Given the description of an element on the screen output the (x, y) to click on. 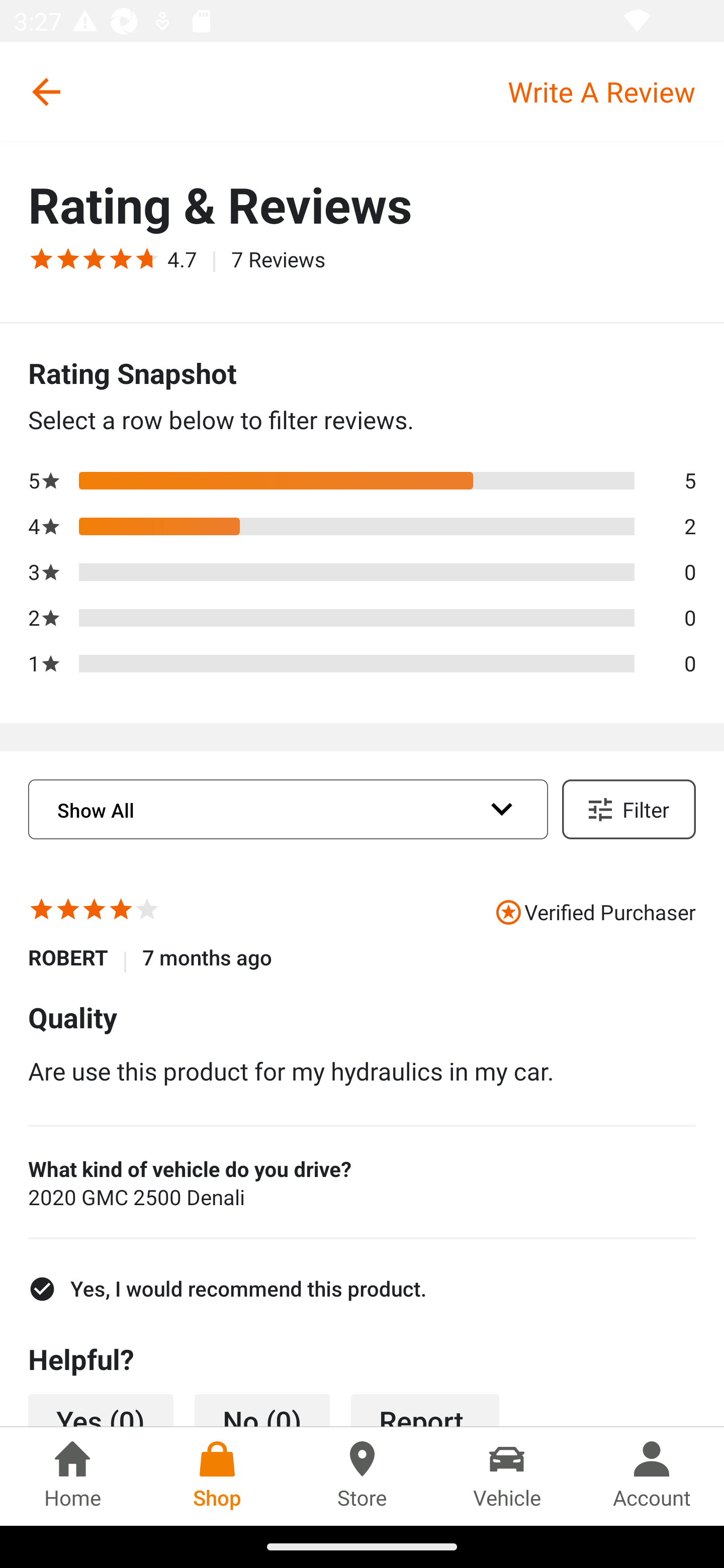
Go back (45, 91)
Write A Review (615, 91)
 (41, 258)
 (68, 258)
 (94, 258)
 (120, 258)
 (142, 258)
7 Reviews (277, 258)
5  5 (361, 479)
4  2 (361, 526)
3  0 (361, 572)
2  0 (361, 617)
1  0 (361, 663)
review-filter-icon-button Filter (628, 808)
collapsed Show All  (287, 809)
 (41, 911)
 (68, 911)
 (94, 911)
 (120, 911)
Press to rate 5 out of 5  (146, 911)
Home (72, 1475)
Shop (216, 1475)
Store (361, 1475)
Vehicle (506, 1475)
Account (651, 1475)
